Given the description of an element on the screen output the (x, y) to click on. 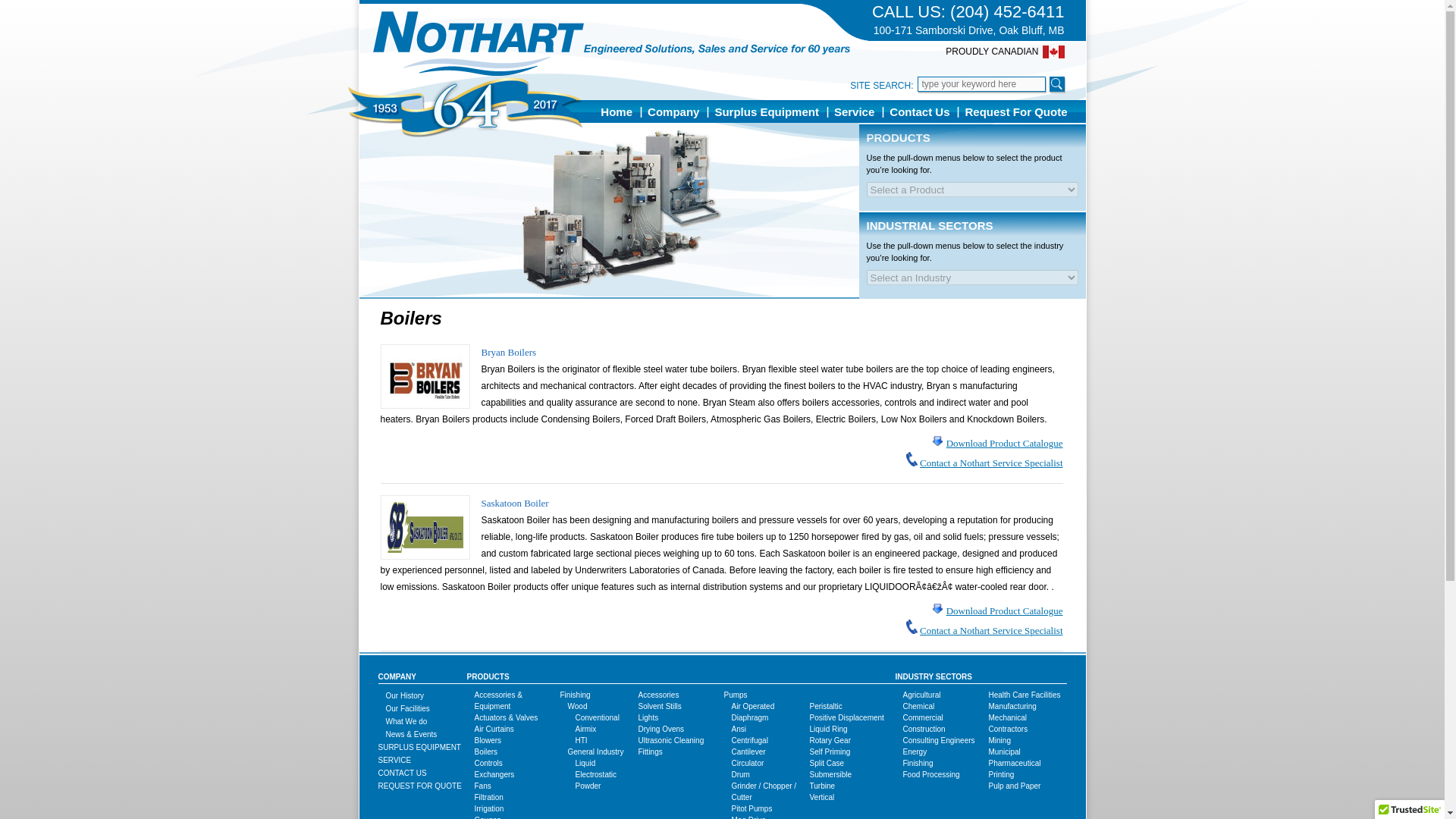
Irrigation (488, 808)
SERVICE (393, 759)
Blowers (488, 740)
Used Equipment (766, 111)
Download Product Catalogue (1004, 442)
Service (393, 759)
Surplus Equipment (766, 111)
Boilers (485, 751)
COMPANY (395, 676)
Filtration (488, 797)
Used Equipment (418, 746)
Home (616, 111)
Request For Quote (1015, 111)
Controls (488, 763)
Nothart Engineered Solution, Sales and Service for 60 years (611, 44)
